Given the description of an element on the screen output the (x, y) to click on. 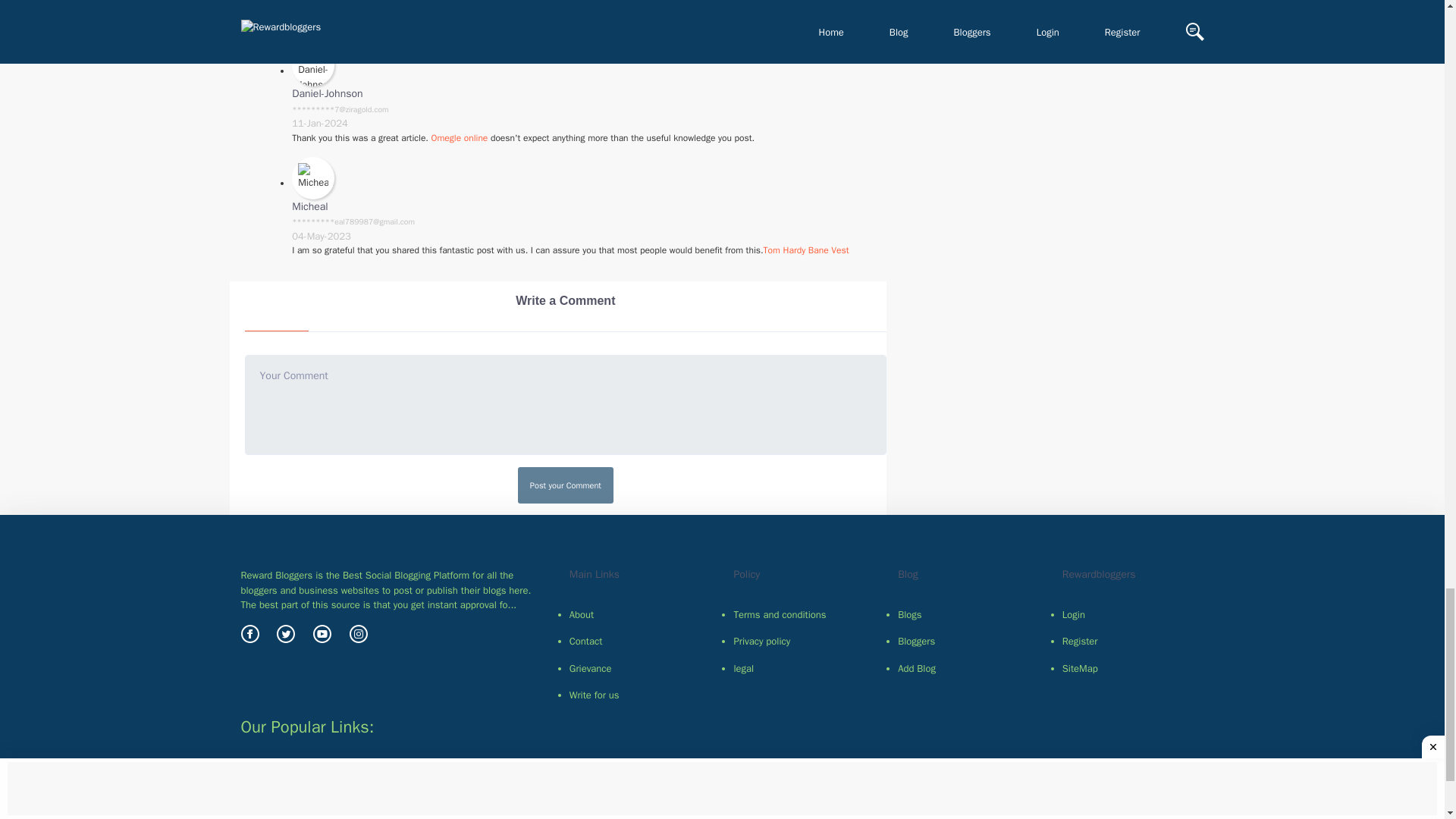
SEO Guest Post (498, 769)
Tom Hardy Bane Vest (805, 250)
Omegle online (458, 137)
Post your Comment (565, 485)
About (640, 614)
Technology Guest Post (392, 769)
Free Guest Posting Site (1087, 769)
Sports Guest Post (828, 769)
Instant Approval Guest Post (381, 785)
Micheal (310, 205)
